Given the description of an element on the screen output the (x, y) to click on. 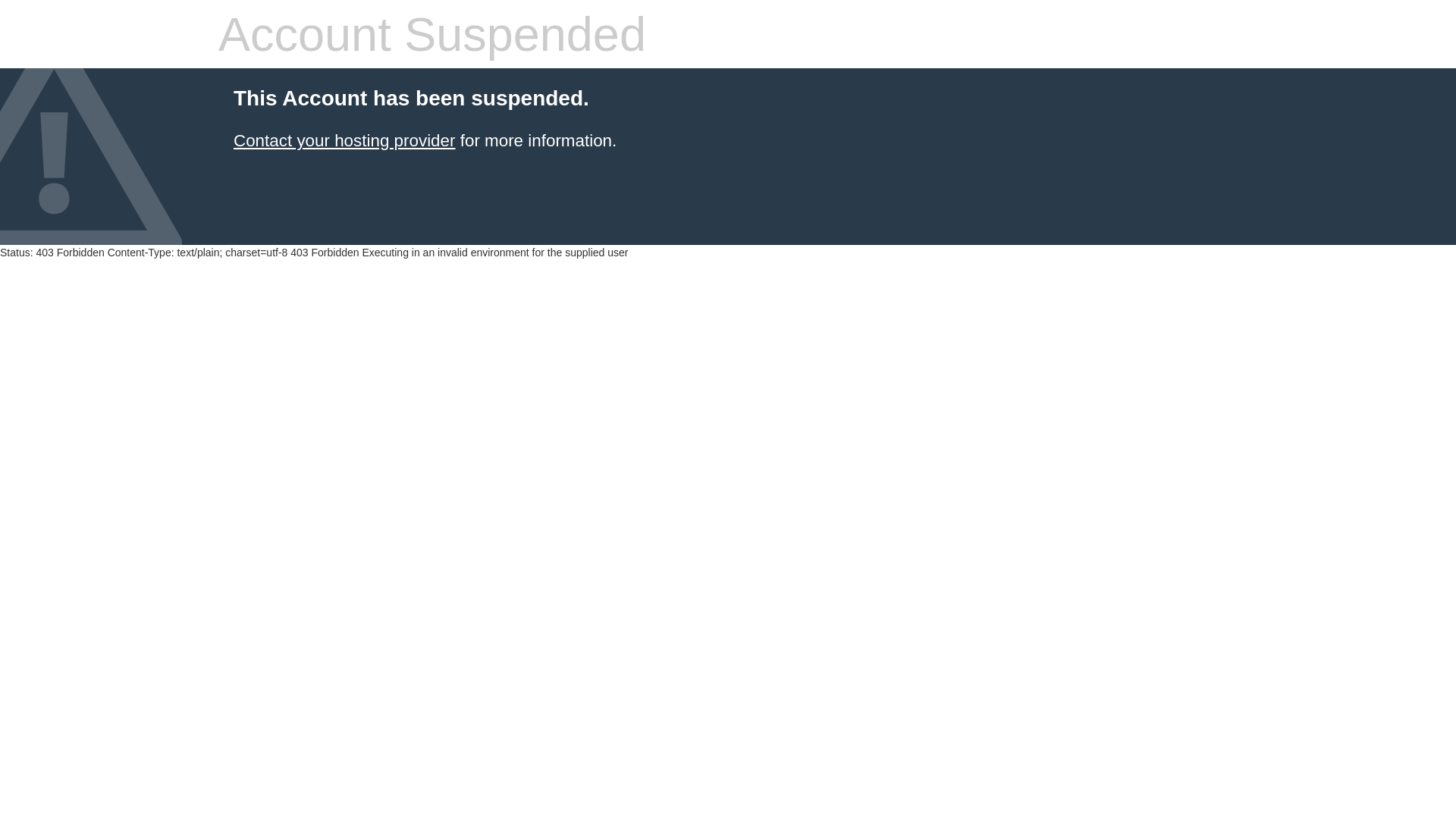
Contact your hosting provider Element type: text (344, 140)
